Given the description of an element on the screen output the (x, y) to click on. 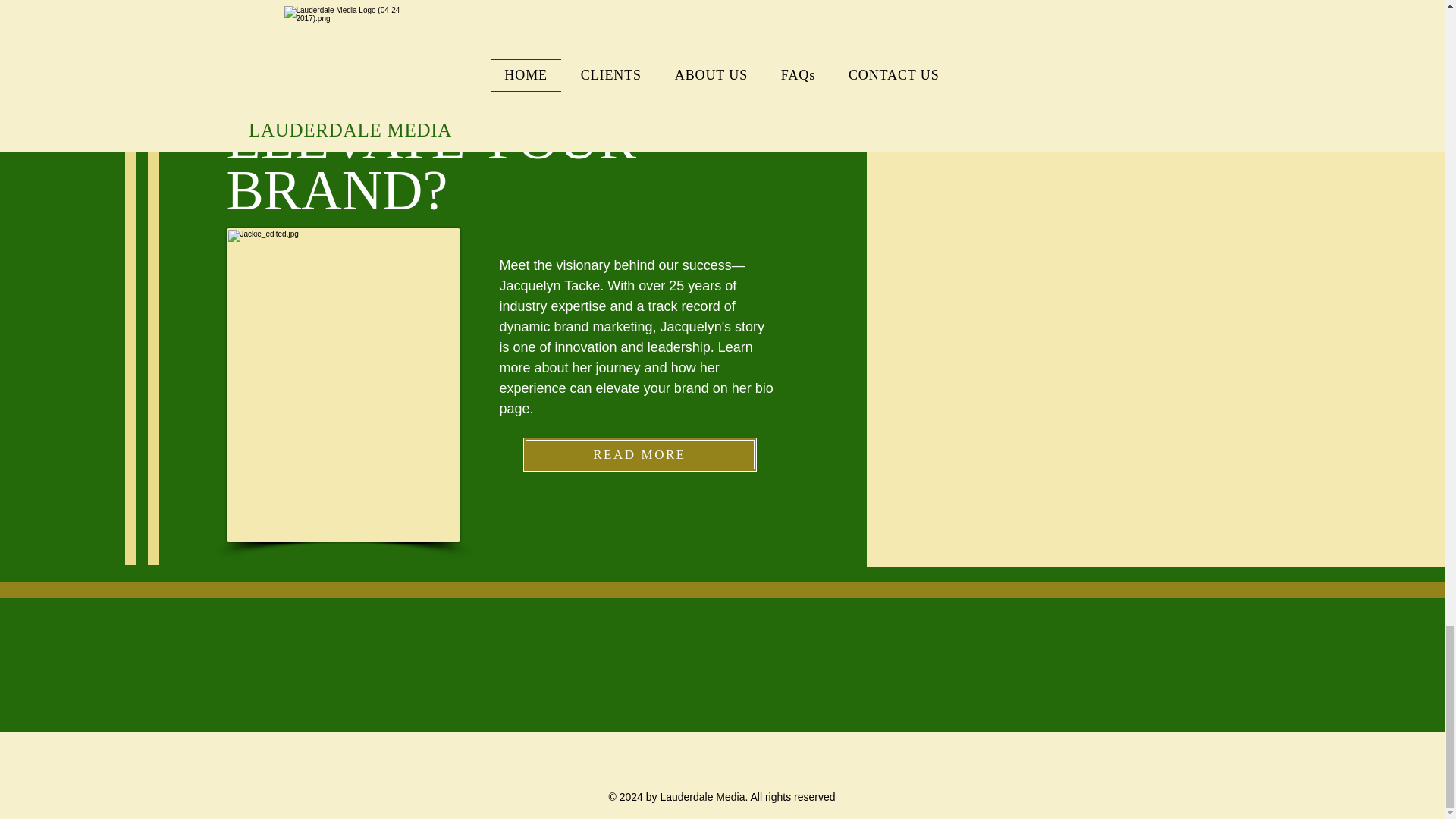
READ MORE (639, 454)
